Given the description of an element on the screen output the (x, y) to click on. 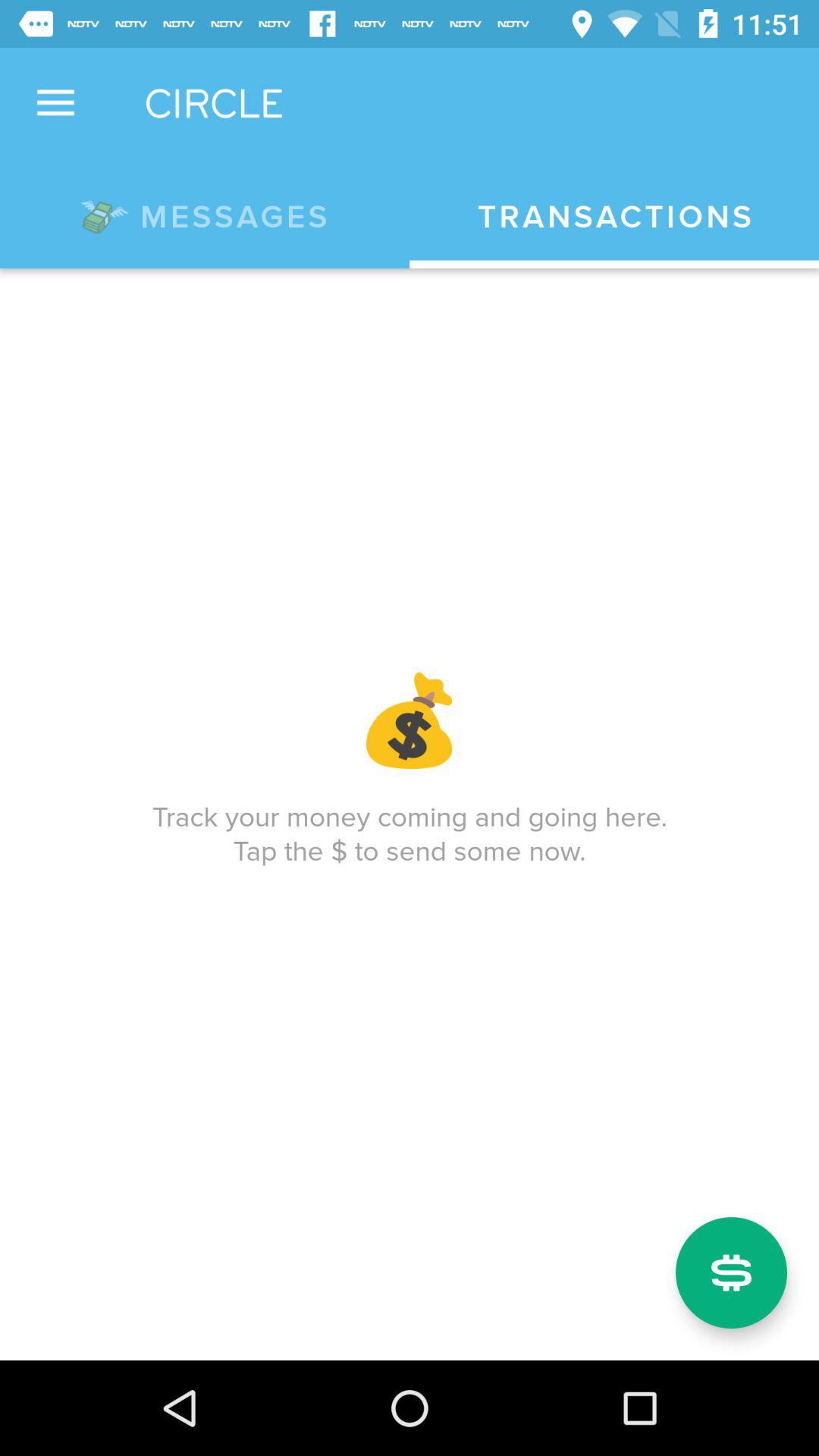
launch the *messages icon (204, 213)
